Given the description of an element on the screen output the (x, y) to click on. 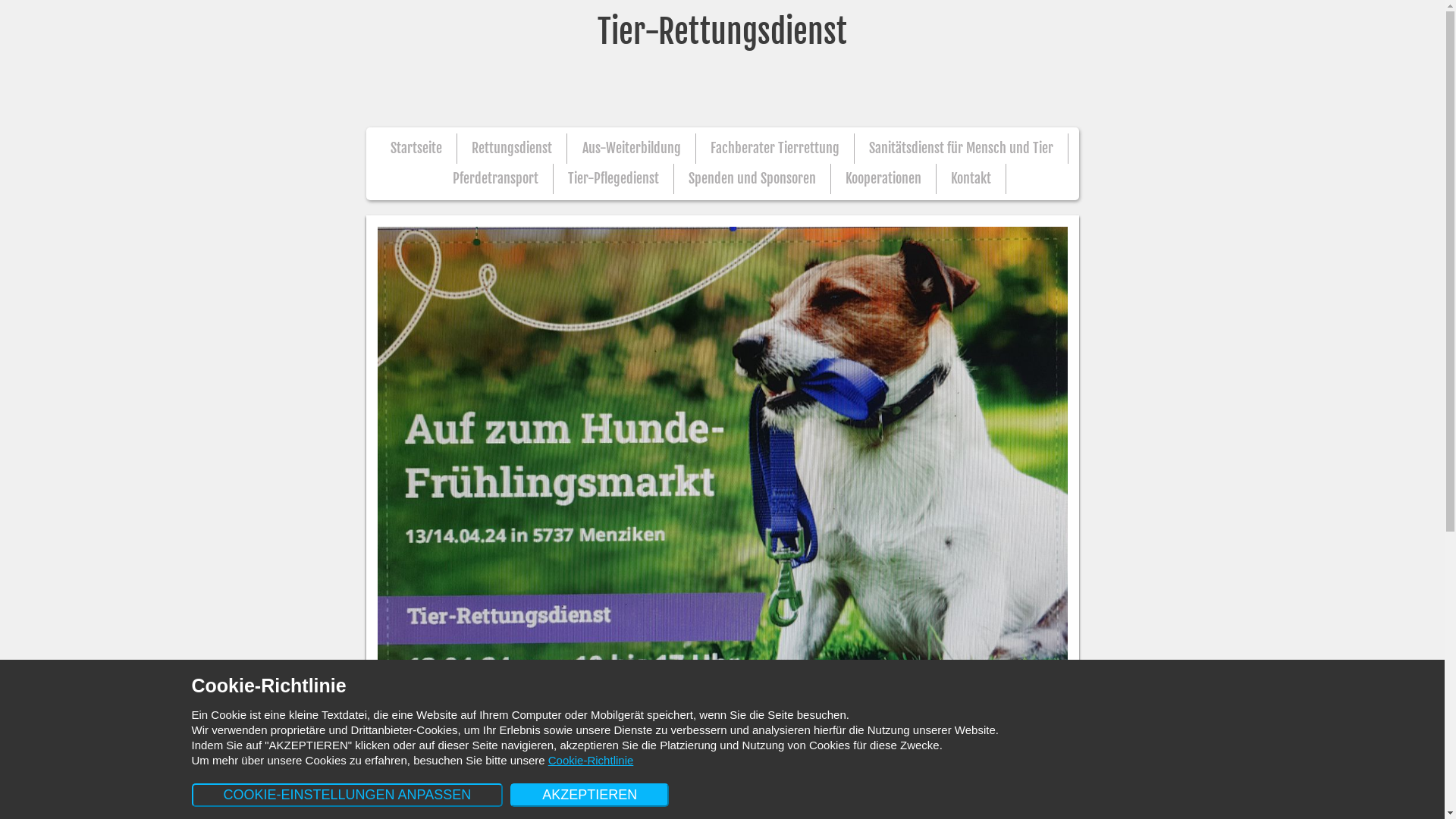
AKZEPTIEREN Element type: text (589, 794)
Tier-Pflegedienst Element type: text (613, 178)
Kooperationen Element type: text (882, 178)
Rettungsdienst Element type: text (511, 148)
Fachberater Tierrettung Element type: text (774, 148)
Kontakt Element type: text (970, 178)
Pferdetransport Element type: text (495, 178)
COOKIE-EINSTELLUNGEN ANPASSEN Element type: text (346, 794)
Startseite Element type: text (415, 148)
Spenden und Sponsoren Element type: text (751, 178)
Aus-Weiterbildung Element type: text (631, 148)
Tier-Rettungsdienst
  Element type: text (721, 63)
Cookie-Richtlinie Element type: text (590, 759)
